Given the description of an element on the screen output the (x, y) to click on. 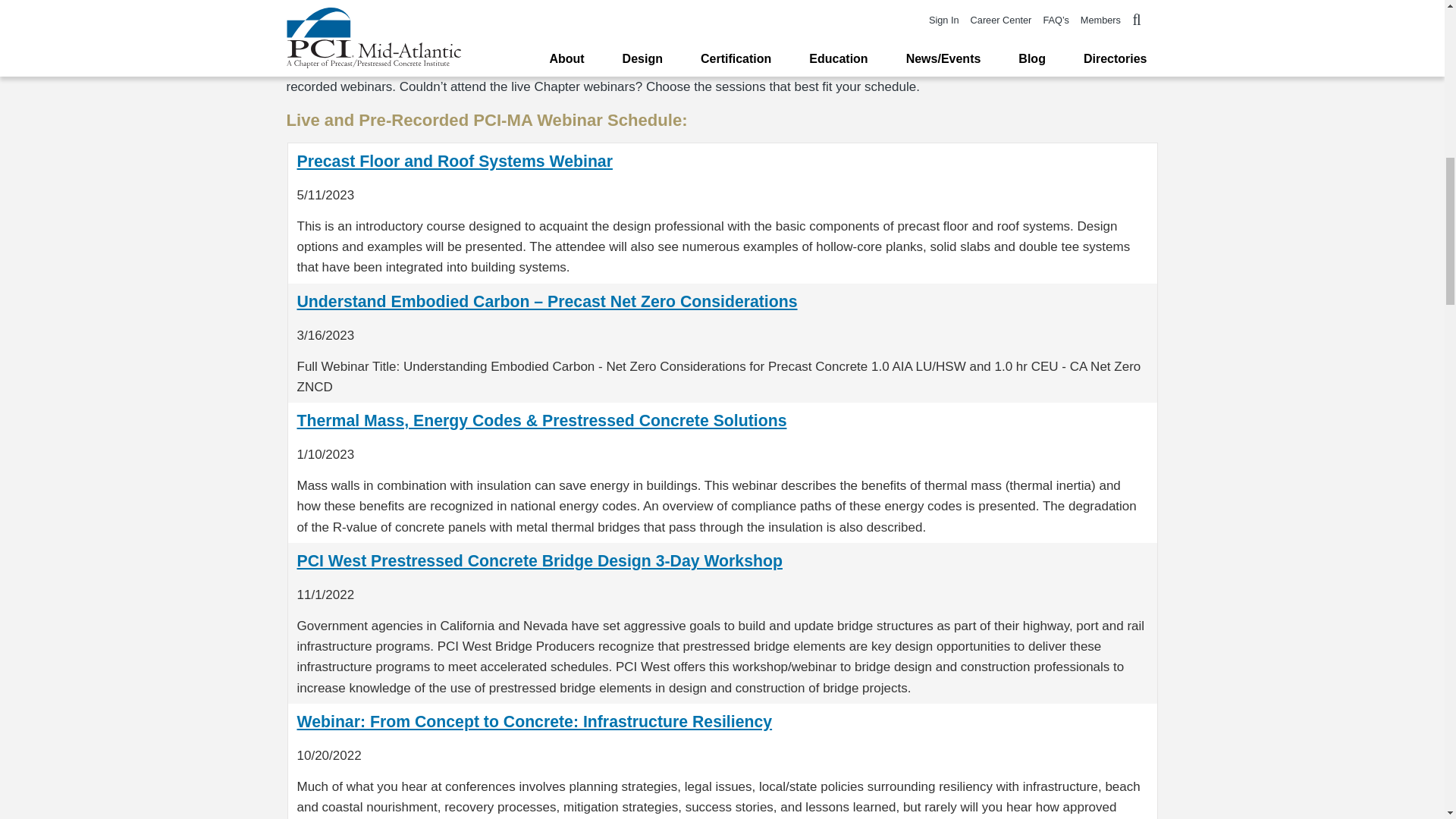
Certification Page (850, 2)
